Given the description of an element on the screen output the (x, y) to click on. 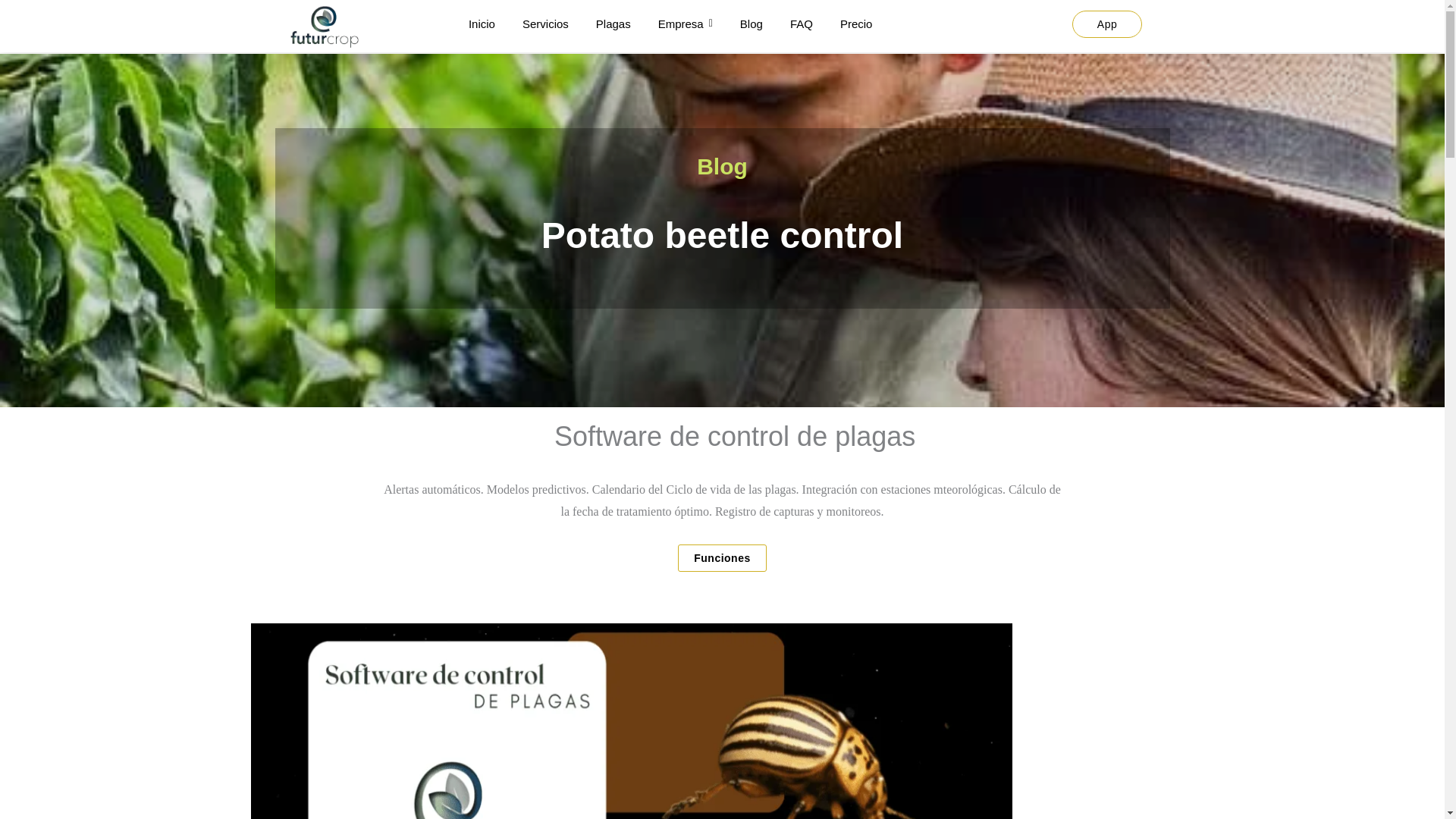
Plagas (612, 23)
Empresa (685, 23)
Precio (856, 23)
Funciones (722, 557)
Servicios (545, 23)
App (1106, 23)
